Given the description of an element on the screen output the (x, y) to click on. 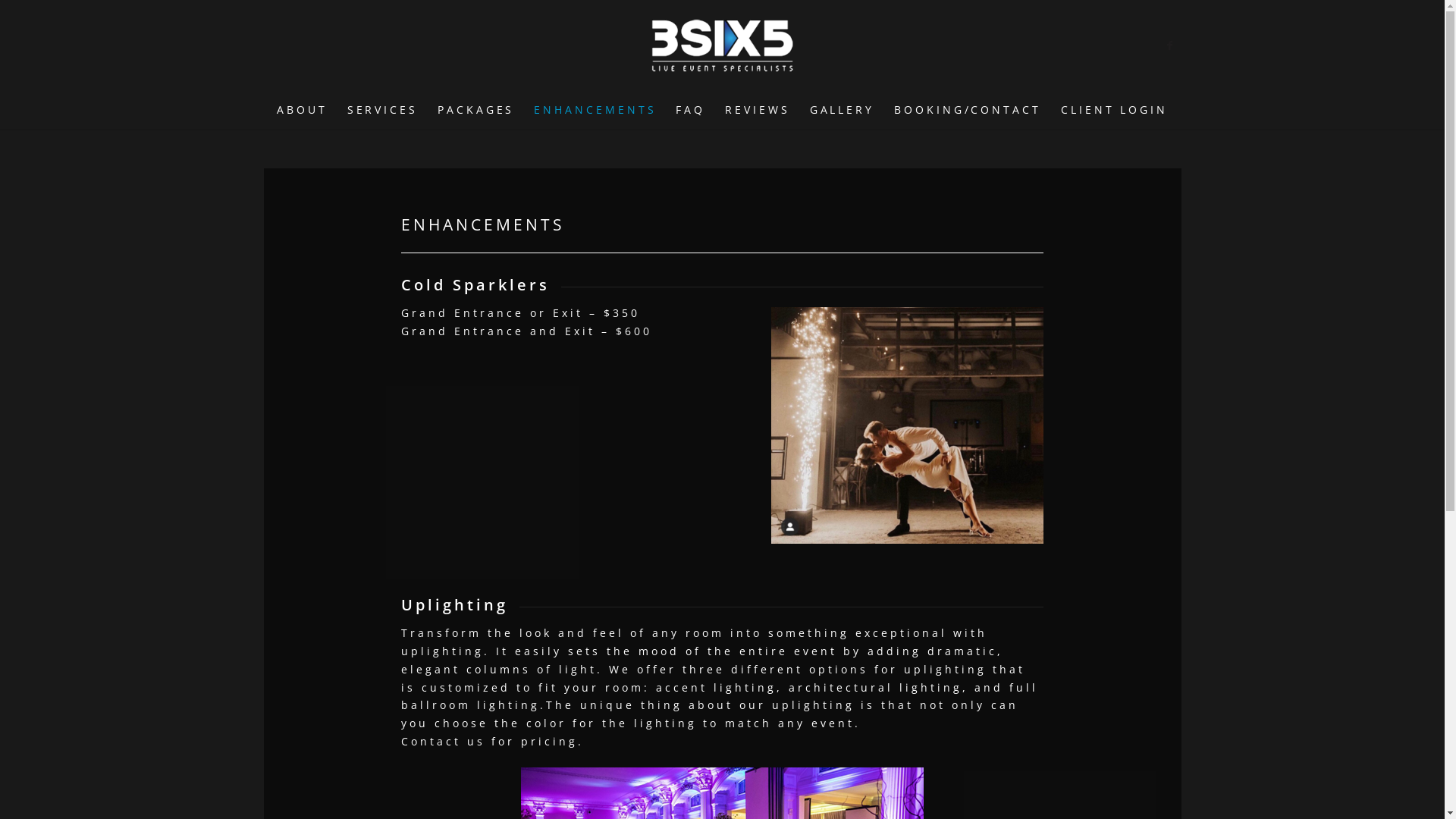
REVIEWS Element type: text (757, 109)
CLIENT LOGIN Element type: text (1114, 109)
ABOUT Element type: text (301, 109)
GALLERY Element type: text (842, 109)
ENHANCEMENTS Element type: text (594, 109)
Facebook Element type: hover (1169, 45)
SERVICES Element type: text (382, 109)
PACKAGES Element type: text (475, 109)
FAQ Element type: text (690, 109)
BOOKING/CONTACT Element type: text (967, 109)
